Given the description of an element on the screen output the (x, y) to click on. 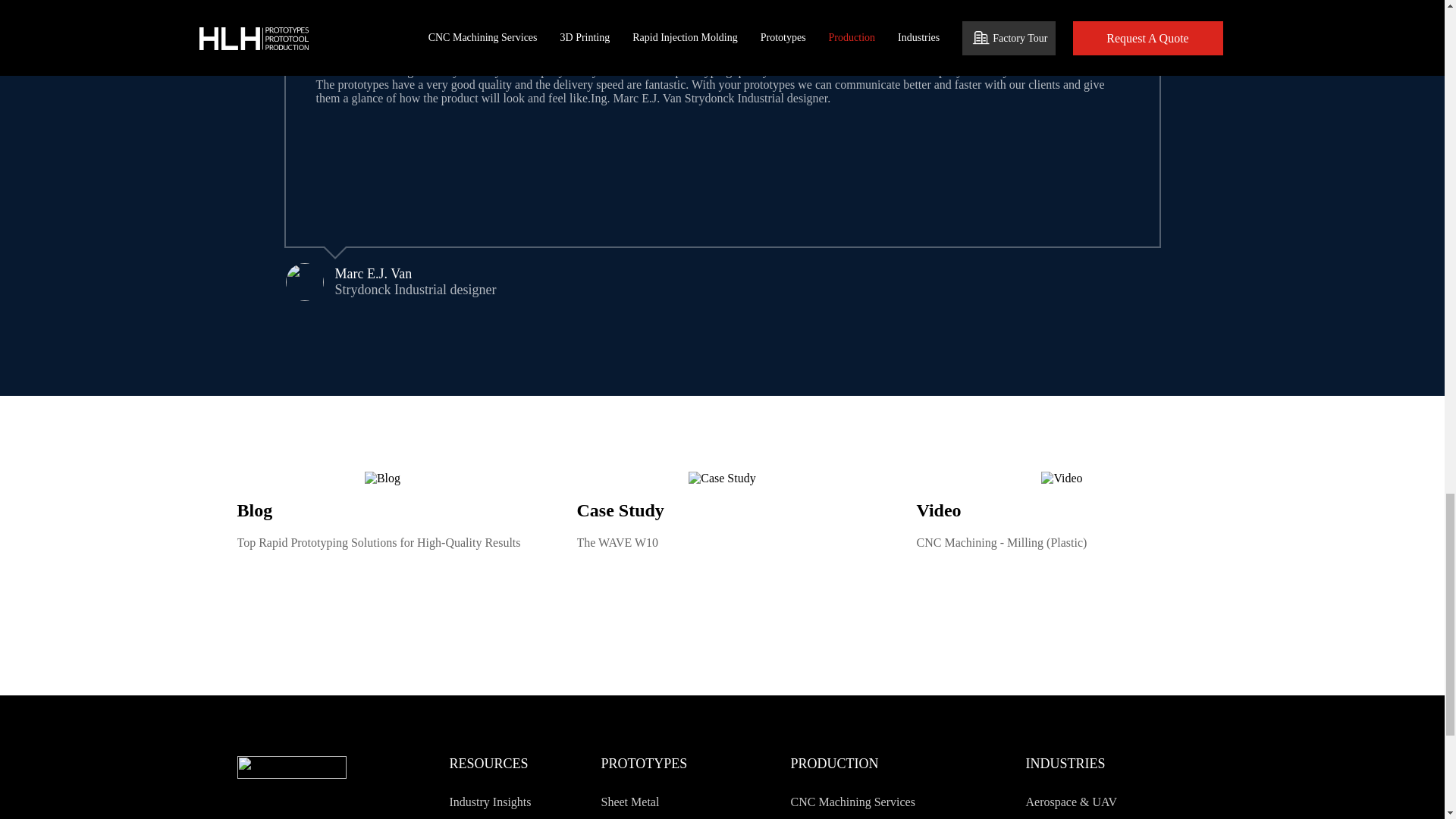
Video (1061, 478)
Sheet Metal  (694, 802)
Vacuum Casting  (694, 816)
Case Study (721, 478)
Industry Insights (543, 802)
Downloads (543, 816)
Die Casting (884, 816)
Sheet Metal (694, 802)
Vacuum Casting (694, 816)
Blog (382, 478)
Industry Insights (543, 802)
Downloads (543, 816)
CNC Machining Services (884, 802)
